Given the description of an element on the screen output the (x, y) to click on. 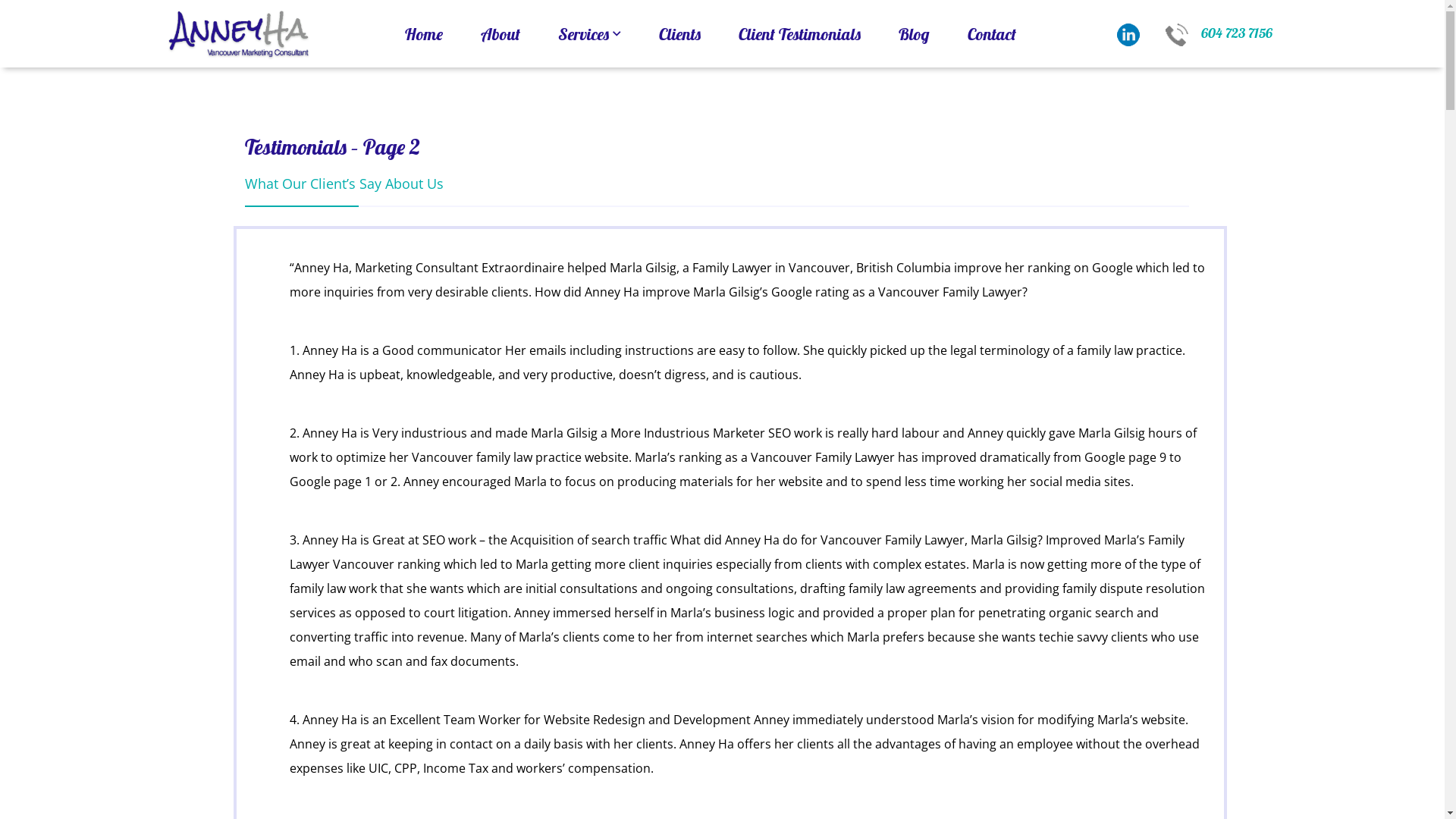
Anney Ha Element type: hover (239, 33)
About Element type: text (499, 33)
Client Testimonials Element type: text (798, 33)
604 723 7156 Element type: text (1211, 32)
Contact Element type: text (990, 33)
Clients Element type: text (679, 33)
Home Element type: text (423, 33)
Services Element type: text (588, 33)
Blog Element type: text (913, 33)
